Given the description of an element on the screen output the (x, y) to click on. 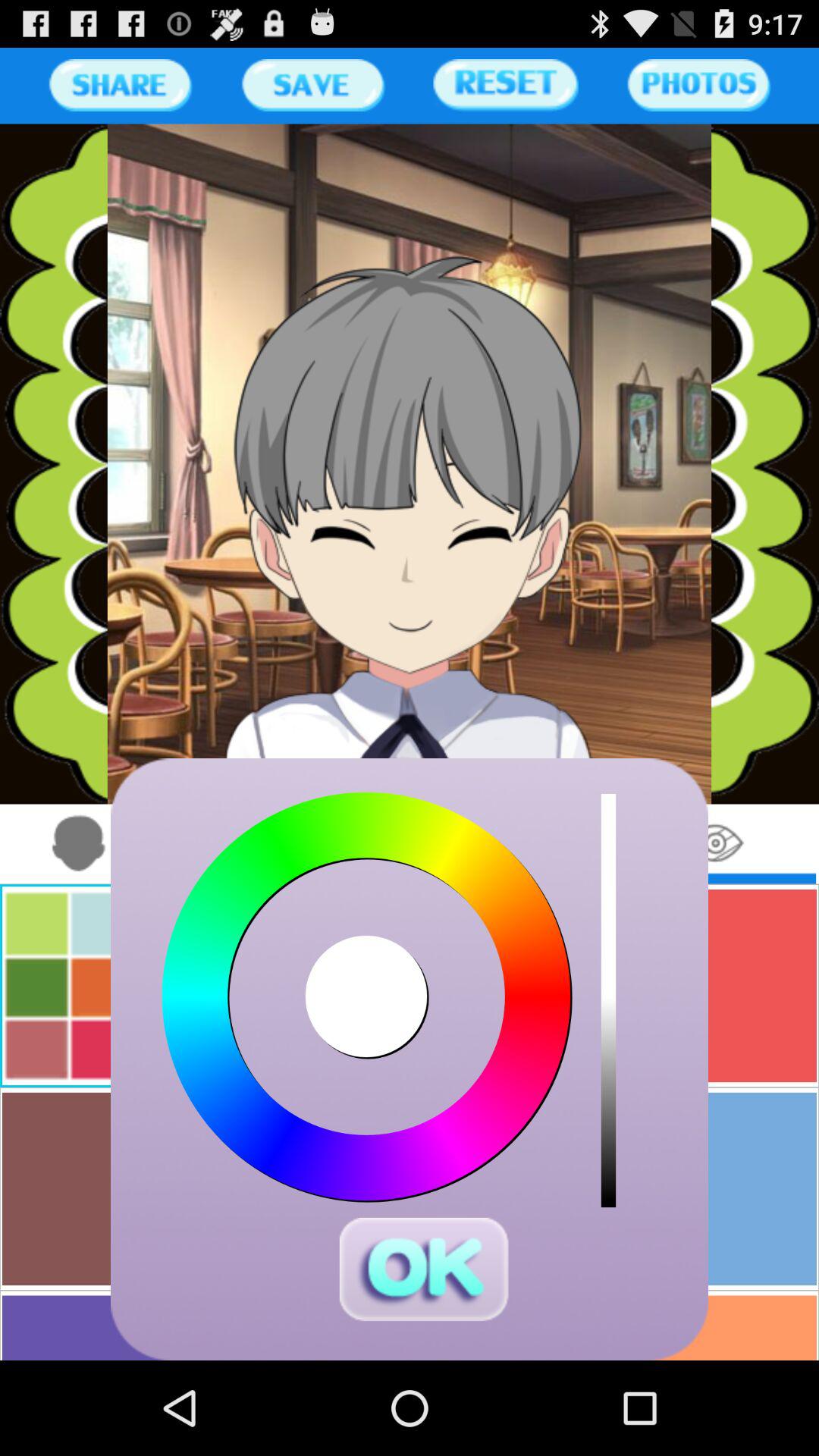
select ok (423, 1269)
